Given the description of an element on the screen output the (x, y) to click on. 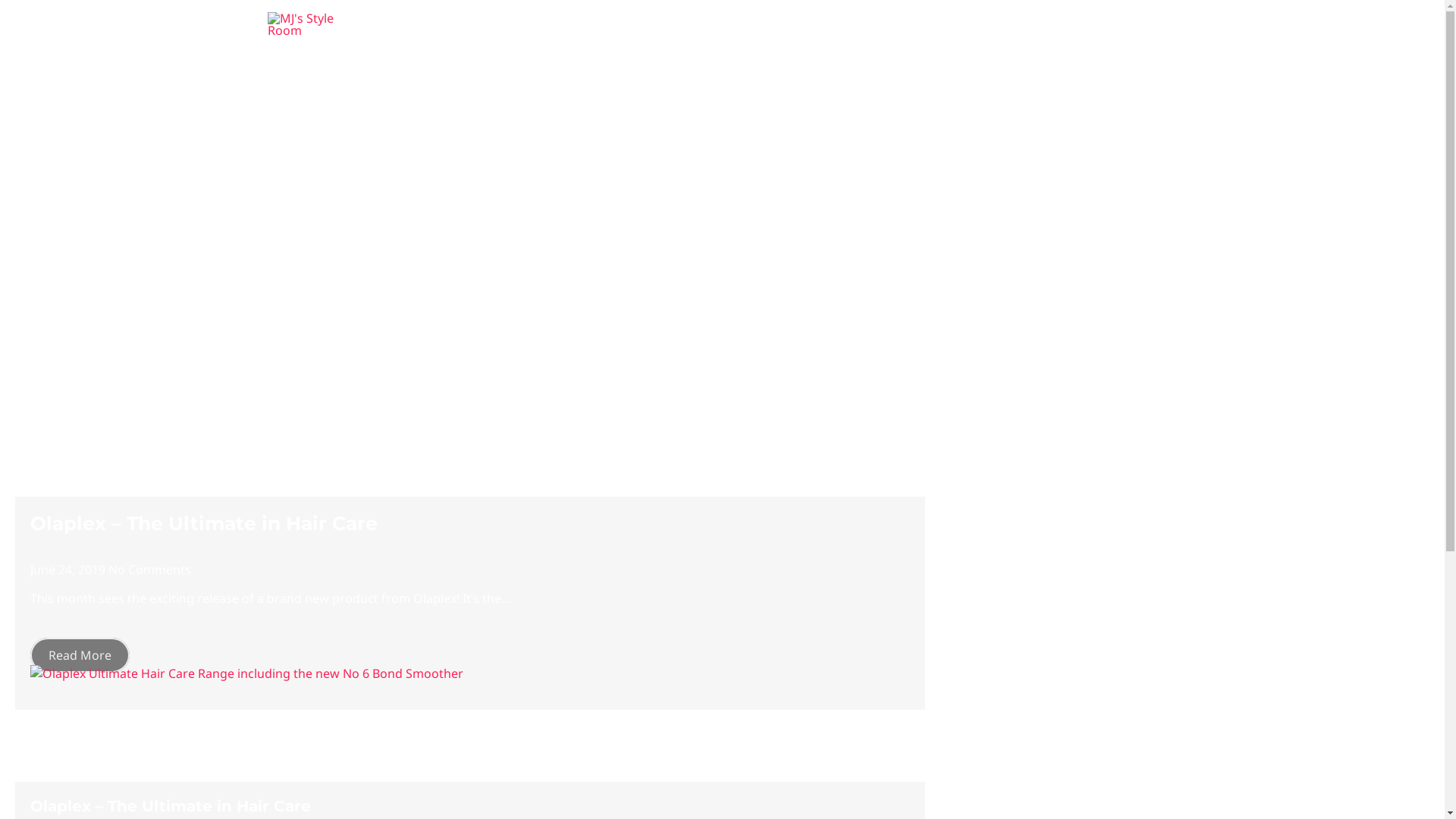
About Element type: text (893, 24)
Contact Element type: text (1142, 24)
Blog Element type: text (1083, 24)
Home Element type: text (834, 24)
Socials Element type: text (1026, 24)
Services Element type: text (958, 24)
Read More Element type: text (79, 654)
